Given the description of an element on the screen output the (x, y) to click on. 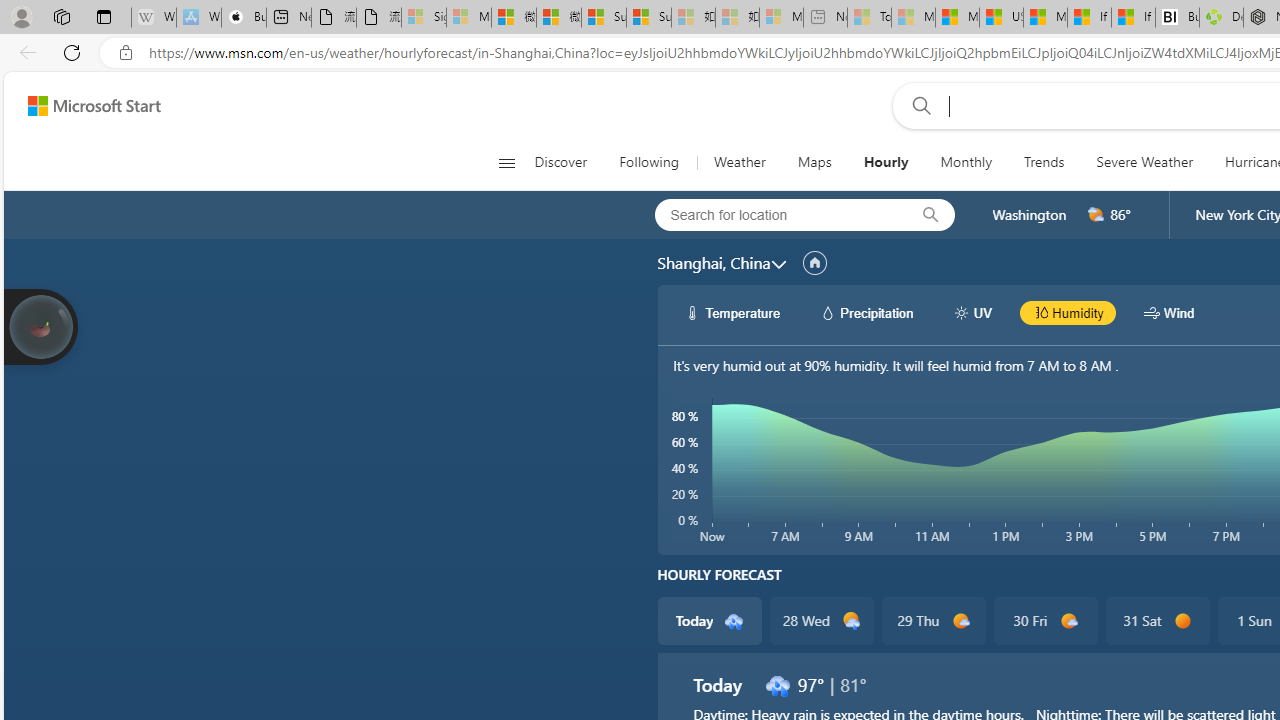
Trends (1044, 162)
Search for location (775, 214)
Hourly (885, 162)
d2100 (851, 621)
common/carouselChevron (778, 264)
Marine life - MSN - Sleeping (913, 17)
hourlyChart/windWhite Wind (1169, 312)
